Given the description of an element on the screen output the (x, y) to click on. 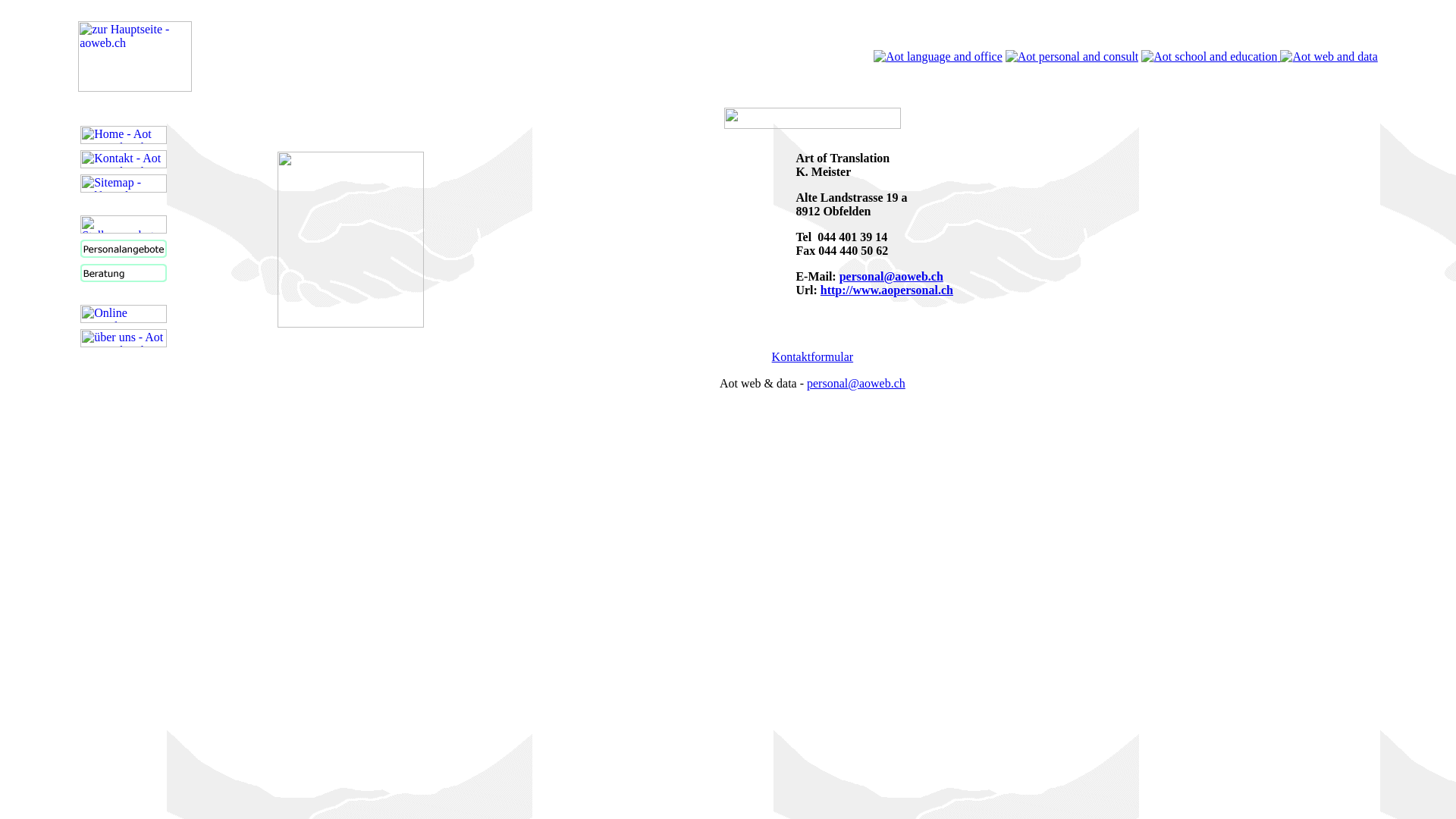
http://www.aopersonal.ch Element type: text (886, 289)
personal@aoweb.ch Element type: text (891, 275)
Kontaktformular Element type: text (812, 356)
personal@aoweb.ch Element type: text (855, 382)
